Given the description of an element on the screen output the (x, y) to click on. 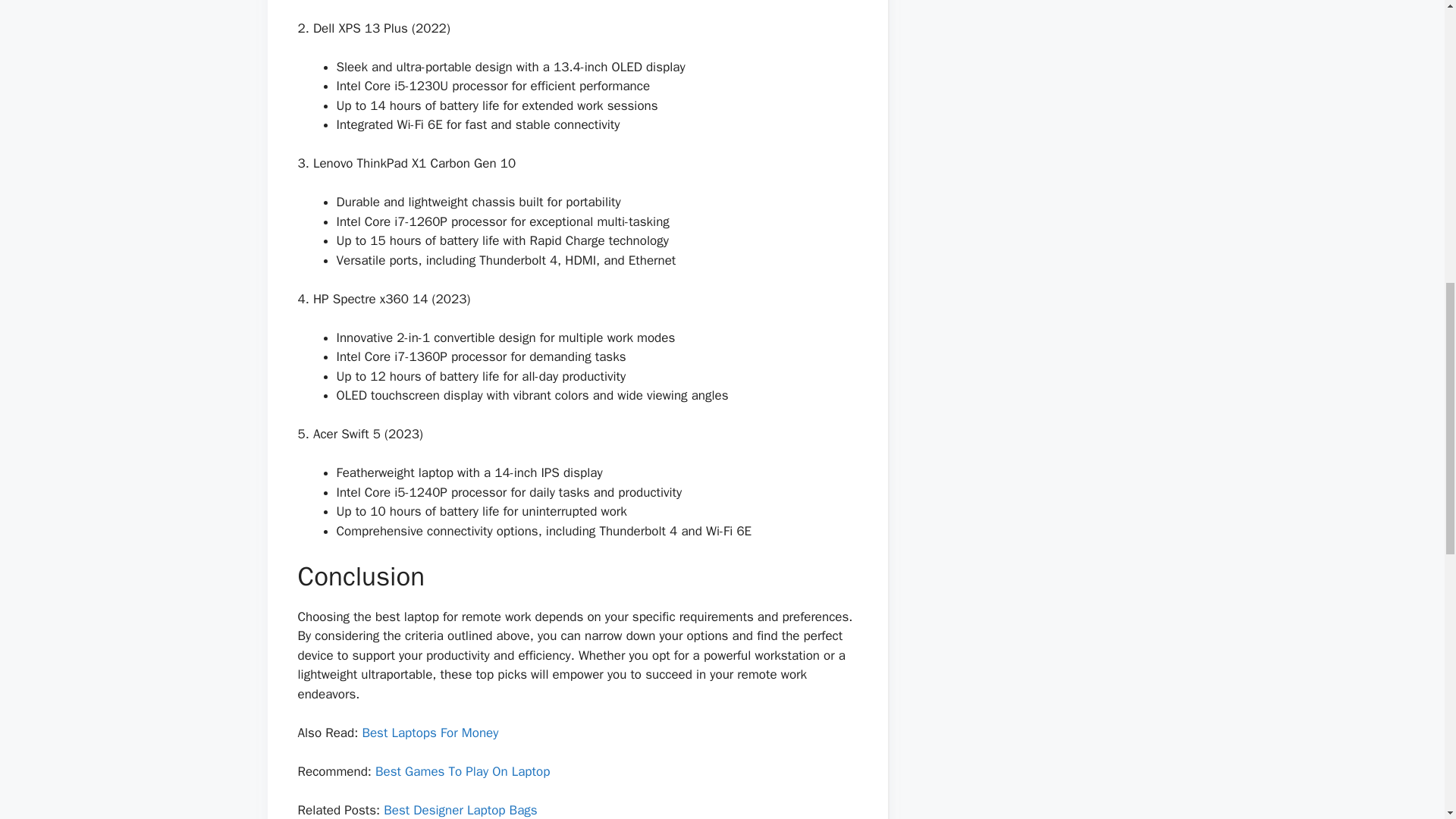
Best Games To Play On Laptop (462, 771)
Best Laptops For Money (429, 732)
Best Designer Laptop Bags (460, 810)
